Given the description of an element on the screen output the (x, y) to click on. 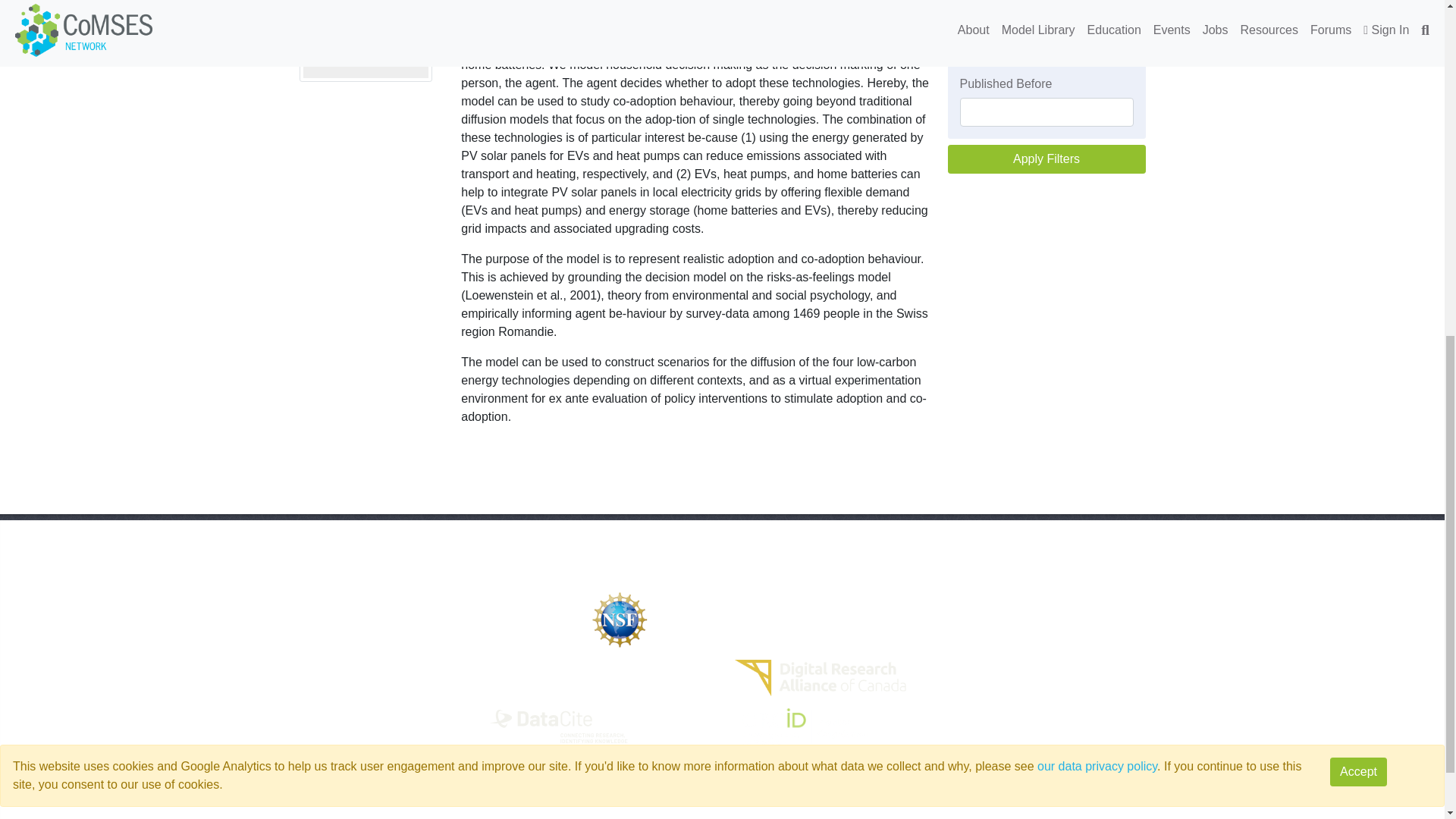
FAQ (310, 703)
Accept (1358, 162)
Apply Filters (1046, 157)
Contact Us (328, 654)
Privacy Policy (336, 678)
YouTube (1113, 630)
Join CoMSES (336, 630)
YouTube Channel (1113, 630)
Twitter (1120, 654)
CoMSES Net on GitHub (794, 805)
